Given the description of an element on the screen output the (x, y) to click on. 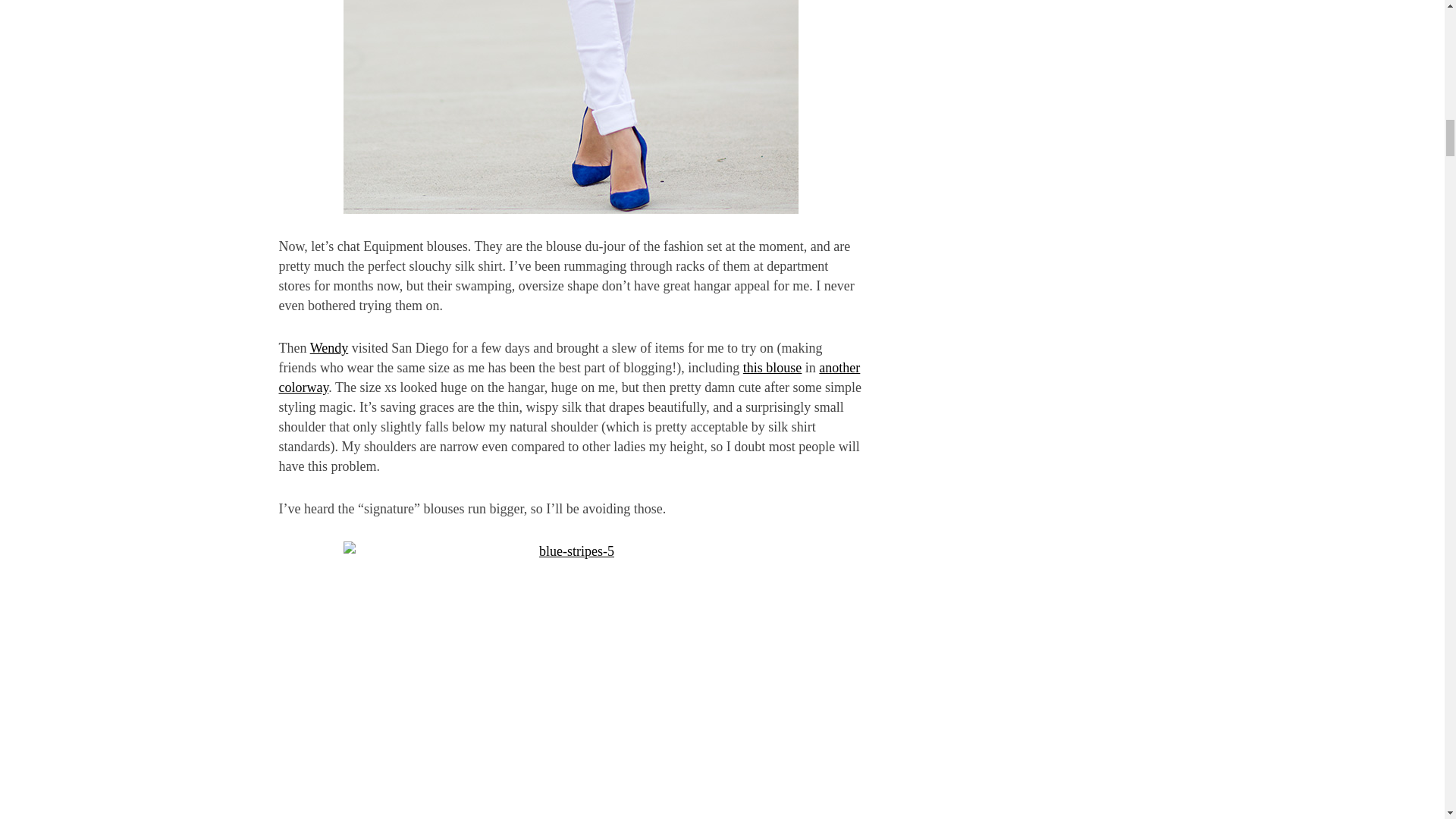
this blouse (772, 367)
blue-stripes-3 by Alterations Needed, on Flickr (571, 106)
another colorway (569, 377)
Wendy (329, 347)
